Given the description of an element on the screen output the (x, y) to click on. 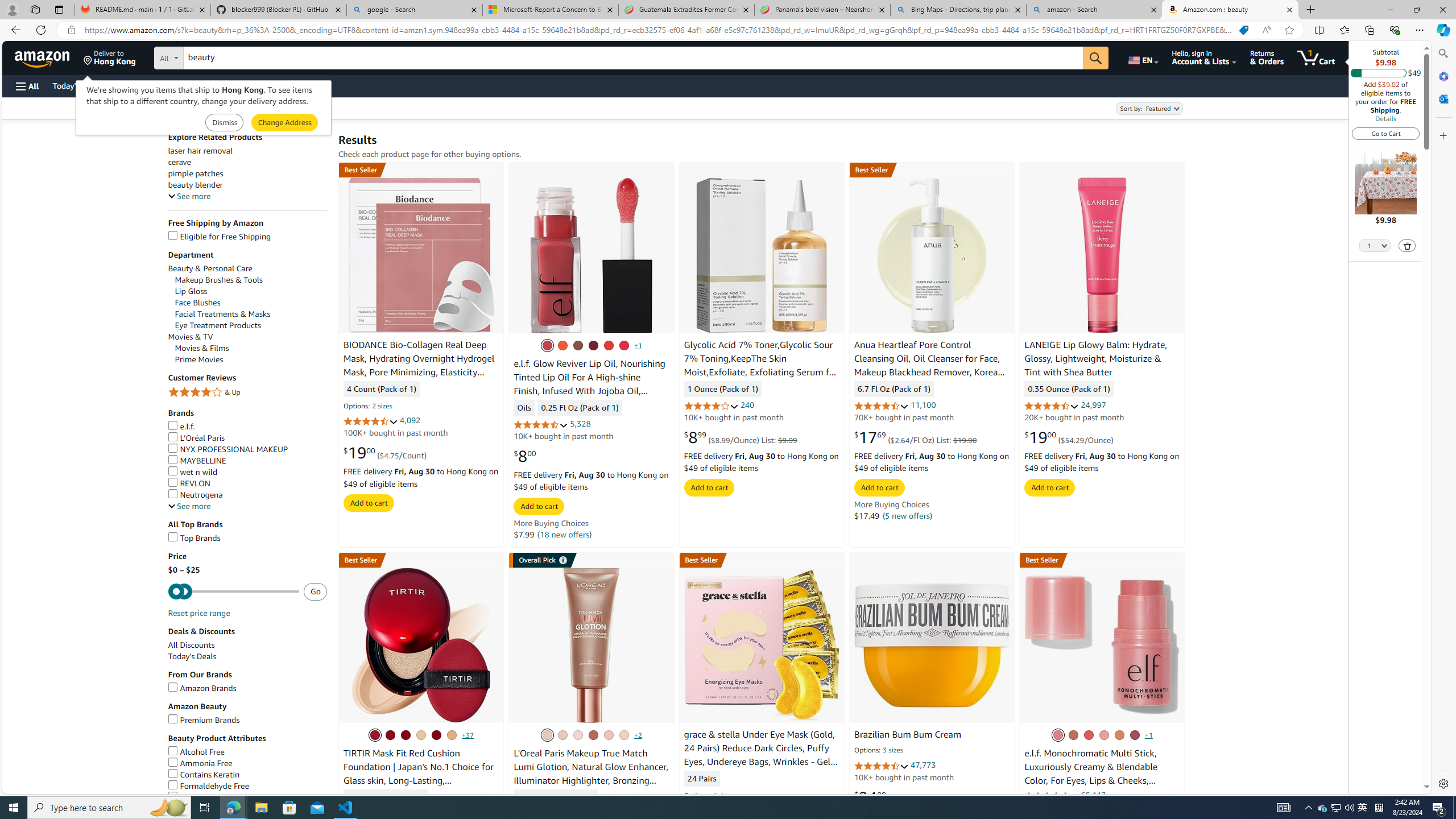
e.l.f. (247, 426)
21C Cool Ivory (374, 734)
All Discounts (247, 645)
1 item in cart (1315, 57)
Go to Cart (1385, 133)
cerave (178, 162)
Facial Treatments & Masks (222, 313)
$19.00 ( $54.29 /Ounce) (1069, 437)
Ammonia Free (247, 763)
MAYBELLINE (196, 460)
